Given the description of an element on the screen output the (x, y) to click on. 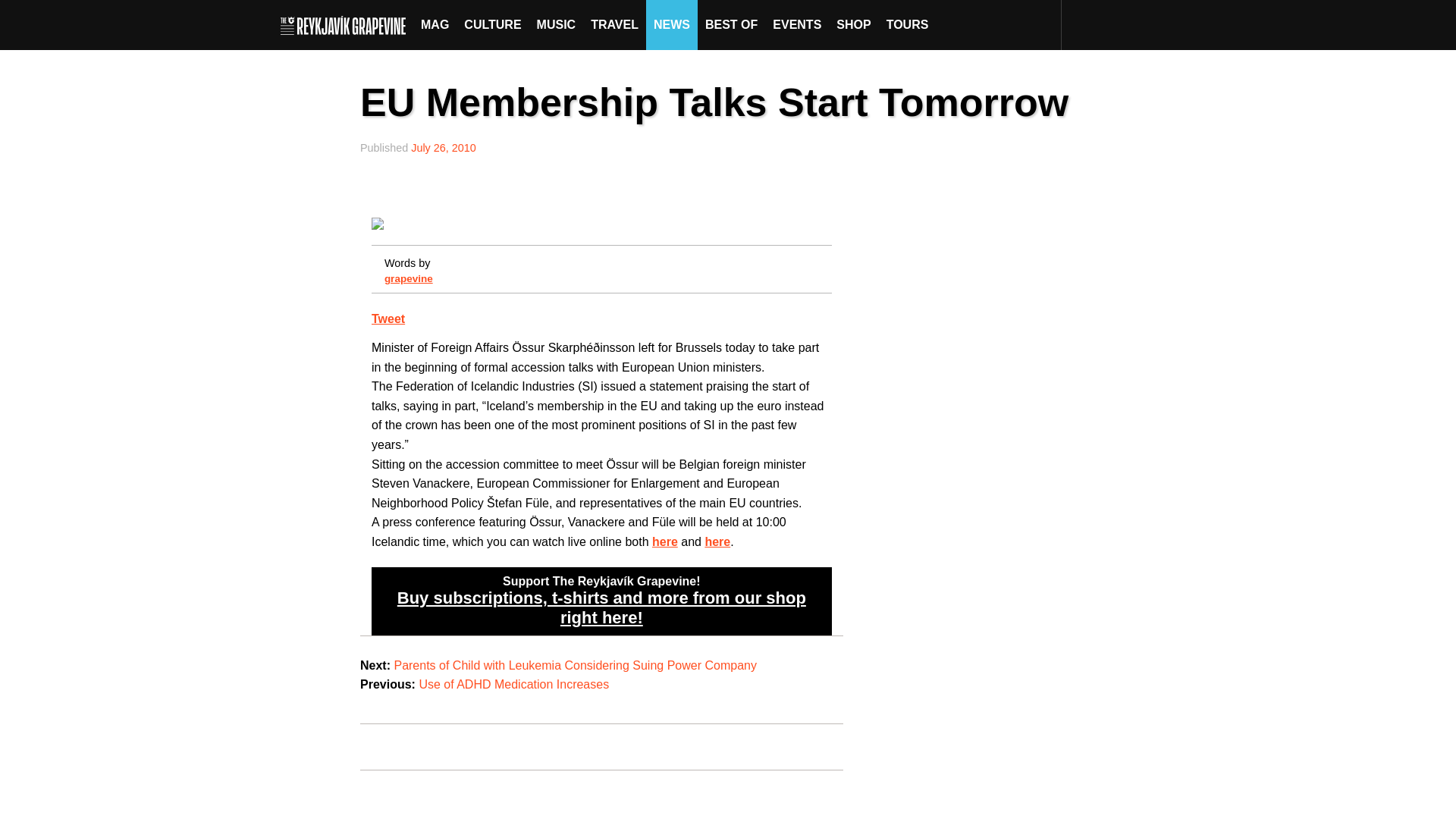
grapevine (408, 278)
TOURS (907, 24)
TRAVEL (614, 24)
BEST OF (731, 24)
Tweet (387, 318)
MUSIC (556, 24)
SHOP (852, 24)
here (717, 541)
CULTURE (492, 24)
